Given the description of an element on the screen output the (x, y) to click on. 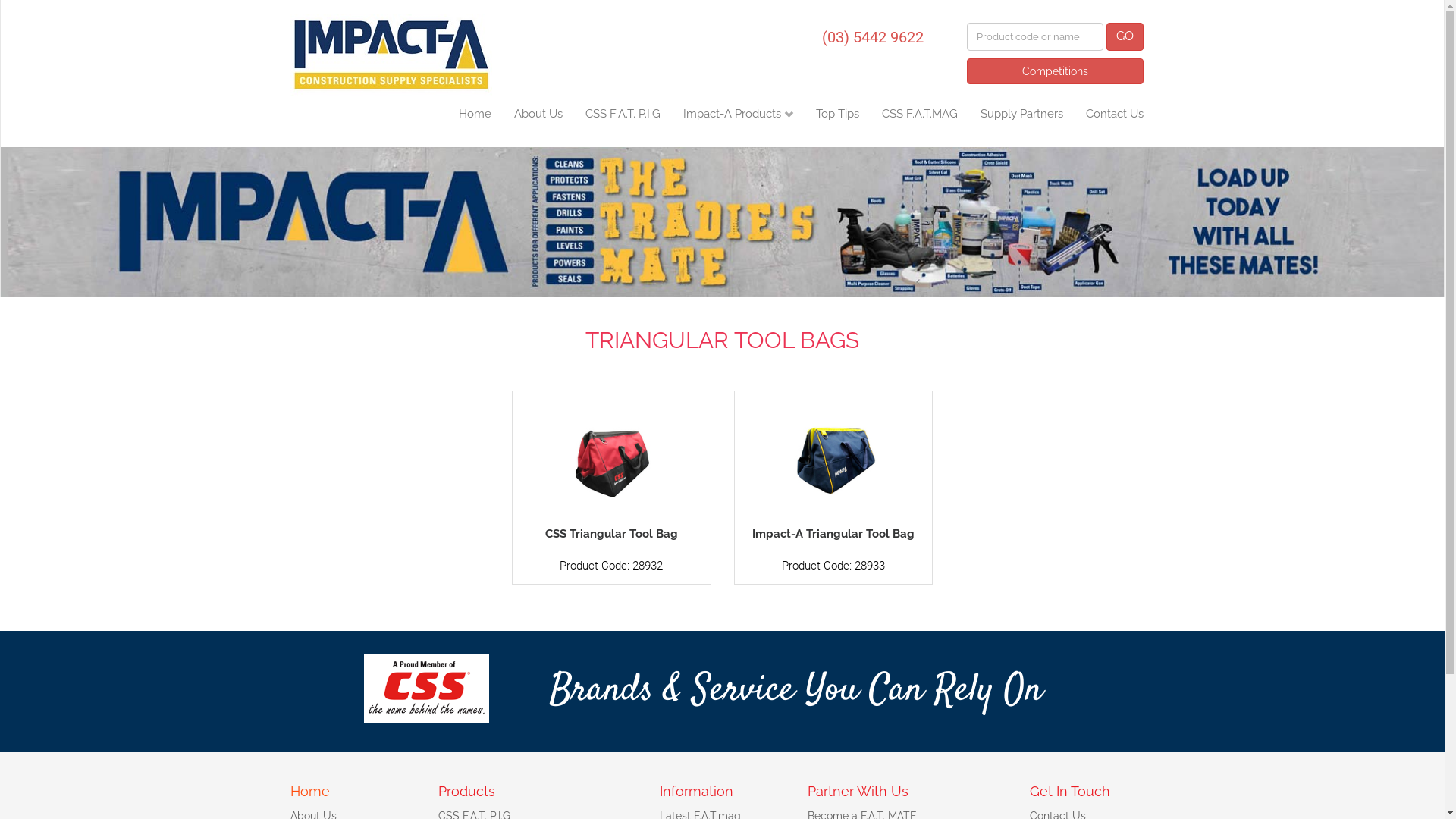
Competitions Element type: text (1054, 71)
Contact Us Element type: text (1113, 120)
Supply Partners Element type: text (1021, 120)
About Us Element type: text (537, 120)
CSS F.A.T. P.I.G Element type: text (622, 120)
(03) 5442 9622 Element type: text (872, 35)
GO Element type: text (1123, 36)
Top Tips Element type: text (836, 120)
CSS Triangular Tool Bag
Product Code: 28932 Element type: text (611, 486)
Home Element type: text (309, 791)
Impact-A Products Element type: text (737, 120)
CSS F.A.T.MAG Element type: text (919, 120)
Impact-A Triangular Tool Bag
Product Code: 28933 Element type: text (833, 486)
Home Element type: text (474, 120)
